Given the description of an element on the screen output the (x, y) to click on. 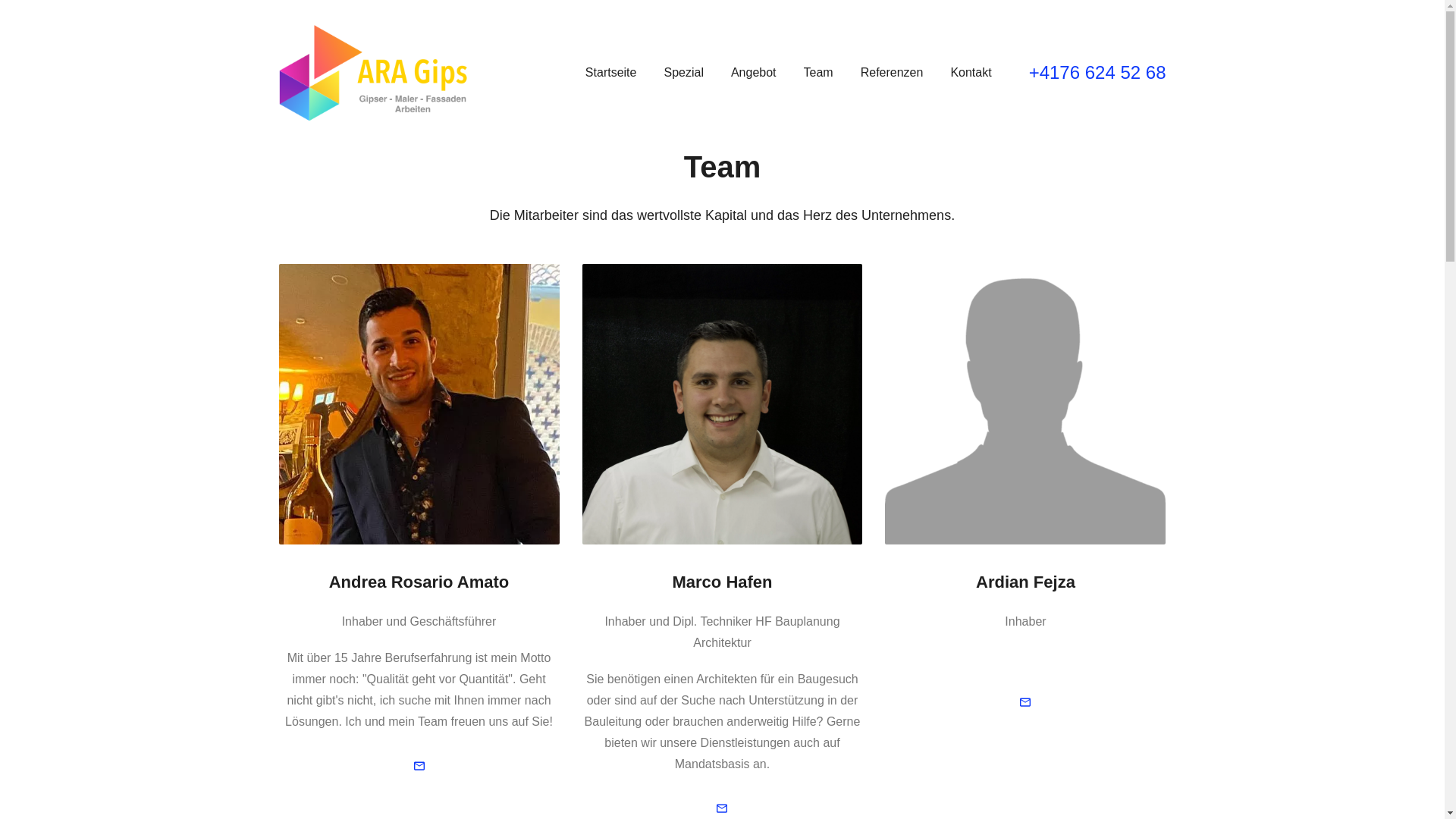
Spezial Element type: text (682, 72)
Kontakt Element type: text (970, 72)
Angebot Element type: text (753, 72)
Startseite Element type: text (611, 72)
Team Element type: text (818, 72)
Referenzen Element type: text (891, 72)
